Given the description of an element on the screen output the (x, y) to click on. 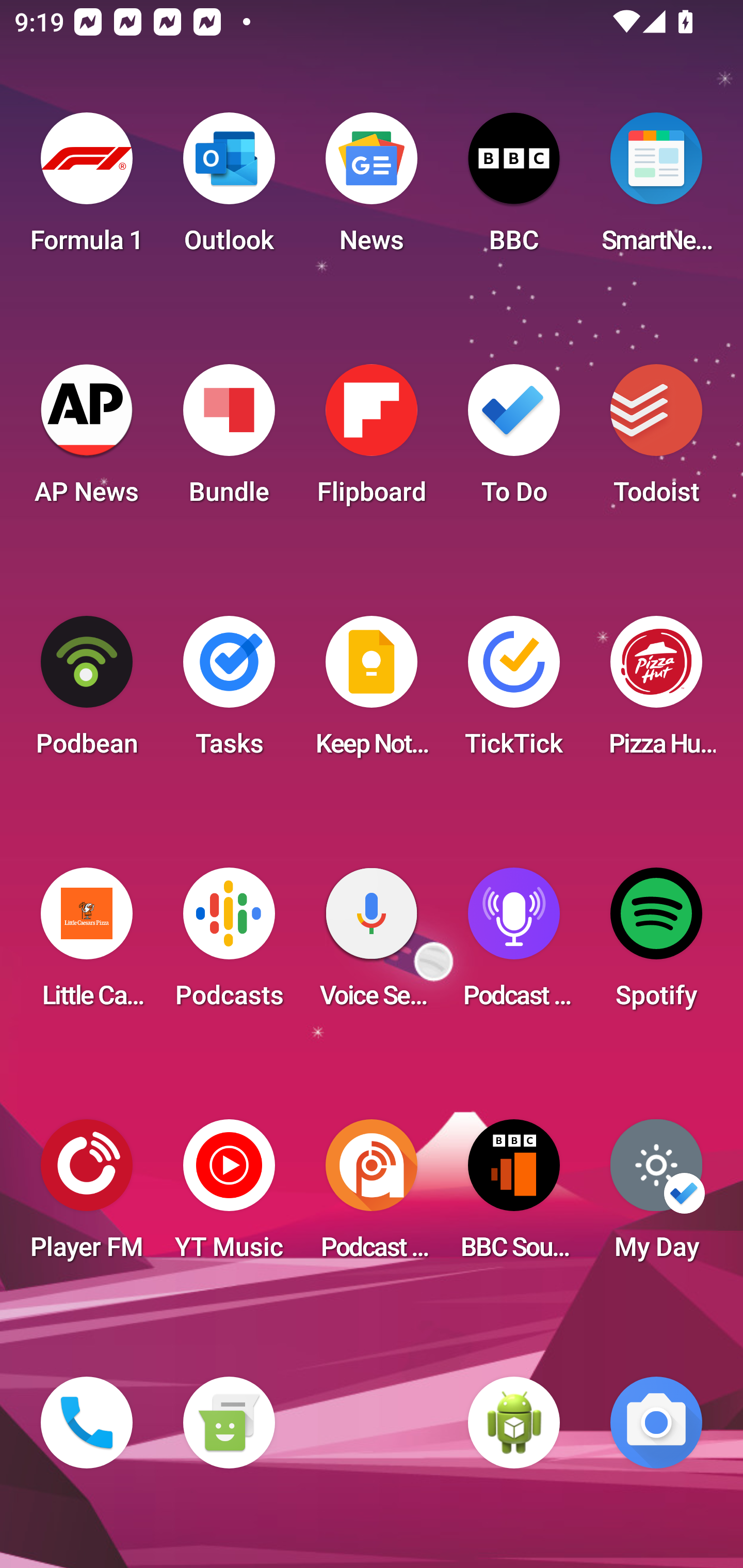
Formula 1 (86, 188)
Outlook (228, 188)
News (371, 188)
BBC (513, 188)
SmartNews (656, 188)
AP News (86, 440)
Bundle (228, 440)
Flipboard (371, 440)
To Do (513, 440)
Todoist (656, 440)
Podbean (86, 692)
Tasks (228, 692)
Keep Notes (371, 692)
TickTick (513, 692)
Pizza Hut HK & Macau (656, 692)
Little Caesars Pizza (86, 943)
Podcasts (228, 943)
Voice Search (371, 943)
Podcast Player (513, 943)
Spotify (656, 943)
Player FM (86, 1195)
YT Music (228, 1195)
Podcast Addict (371, 1195)
BBC Sounds (513, 1195)
My Day (656, 1195)
Phone (86, 1422)
Messaging (228, 1422)
WebView Browser Tester (513, 1422)
Camera (656, 1422)
